Given the description of an element on the screen output the (x, y) to click on. 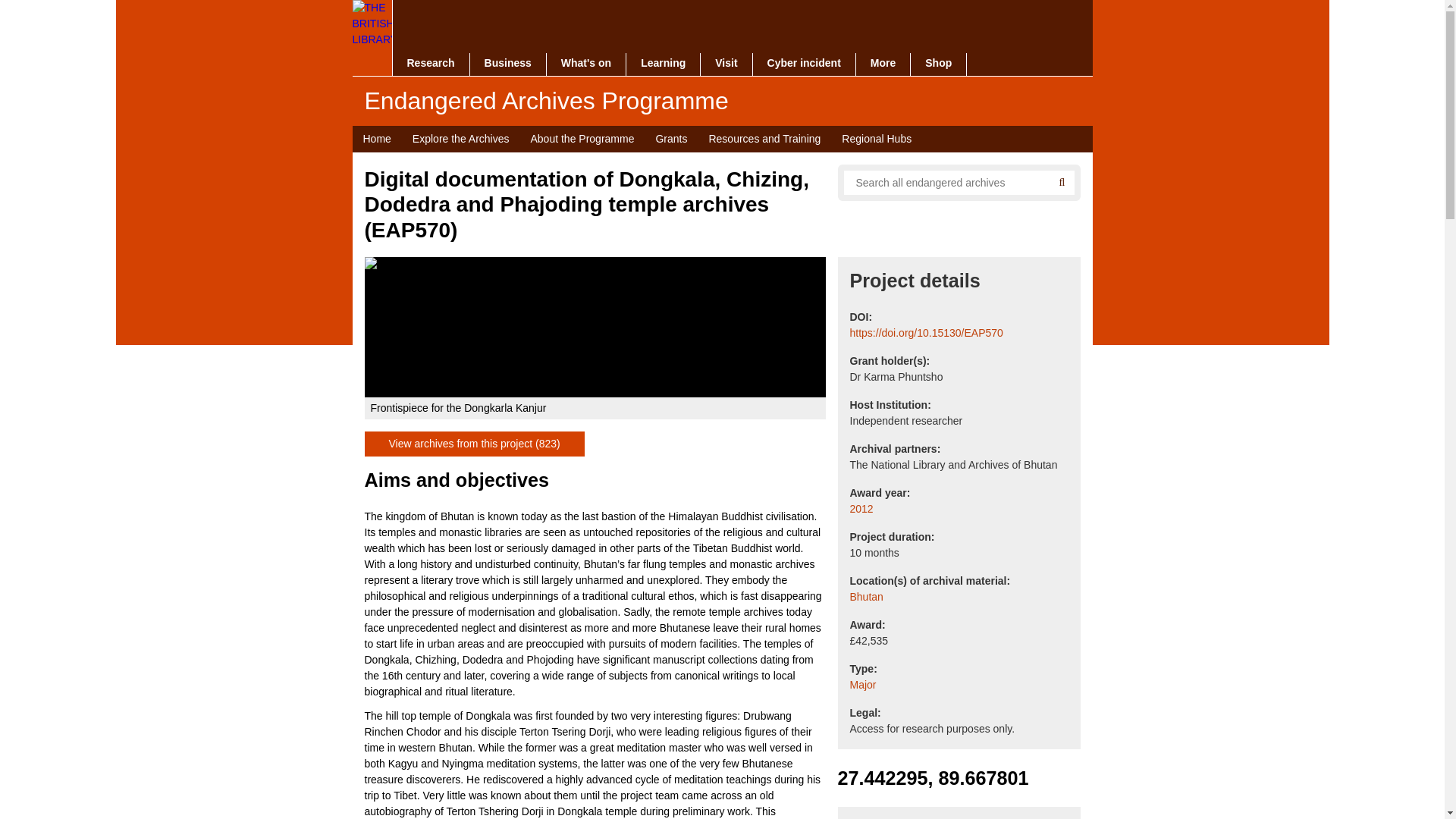
About the Programme (582, 139)
Resources and Training (764, 139)
Bhutan (865, 596)
Explore EAP projects and collections (460, 139)
Search (1061, 182)
2012 (860, 508)
What's on (586, 64)
Research (430, 64)
Regional Hubs (876, 139)
Home (376, 139)
Explore the Archives (460, 139)
Information about grants we award (671, 139)
More (883, 64)
Learning (663, 64)
